Given the description of an element on the screen output the (x, y) to click on. 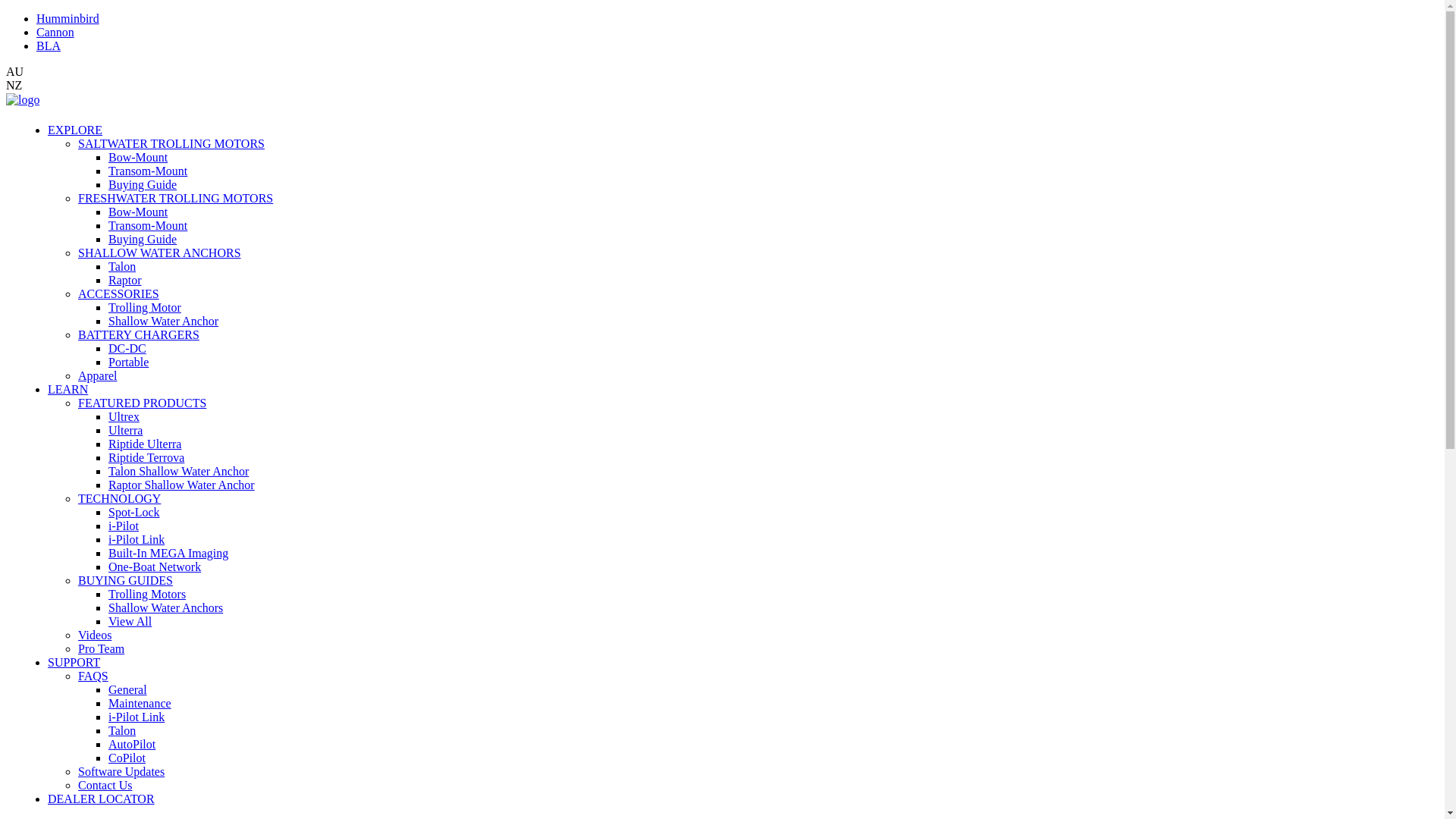
Software Updates Element type: text (121, 771)
Humminbird Element type: text (67, 18)
DEALER LOCATOR Element type: text (100, 798)
Riptide Ulterra Element type: text (144, 443)
View All Element type: text (129, 621)
Trolling Motor Element type: text (144, 307)
Buying Guide Element type: text (142, 184)
General Element type: text (127, 689)
BUYING GUIDES Element type: text (125, 580)
Buying Guide Element type: text (142, 238)
FRESHWATER TROLLING MOTORS Element type: text (175, 197)
Shallow Water Anchor Element type: text (163, 320)
Contact Us Element type: text (105, 784)
ACCESSORIES Element type: text (118, 293)
DC-DC Element type: text (127, 348)
SHALLOW WATER ANCHORS Element type: text (159, 252)
Built-In MEGA Imaging Element type: text (168, 552)
i-Pilot Link Element type: text (136, 539)
Spot-Lock Element type: text (134, 511)
SALTWATER TROLLING MOTORS Element type: text (171, 143)
One-Boat Network Element type: text (154, 566)
Bow-Mount Element type: text (137, 211)
Ultrex Element type: text (123, 416)
Apparel Element type: text (97, 375)
AutoPilot Element type: text (131, 743)
FEATURED PRODUCTS Element type: text (142, 402)
Riptide Terrova Element type: text (146, 457)
EXPLORE Element type: text (74, 129)
Pro Team Element type: text (101, 648)
Portable Element type: text (128, 361)
i-Pilot Link Element type: text (136, 716)
Videos Element type: text (94, 634)
Raptor Shallow Water Anchor Element type: text (181, 484)
Bow-Mount Element type: text (137, 156)
FAQS Element type: text (93, 675)
Trolling Motors Element type: text (146, 593)
TECHNOLOGY Element type: text (119, 498)
Shallow Water Anchors Element type: text (165, 607)
Talon Shallow Water Anchor Element type: text (178, 470)
Raptor Element type: text (124, 279)
Talon Element type: text (121, 266)
Transom-Mount Element type: text (147, 170)
Cannon Element type: text (55, 31)
Talon Element type: text (121, 730)
BATTERY CHARGERS Element type: text (138, 334)
Ulterra Element type: text (125, 429)
i-Pilot Element type: text (123, 525)
BLA Element type: text (48, 45)
Transom-Mount Element type: text (147, 225)
SUPPORT Element type: text (73, 661)
LEARN Element type: text (67, 388)
Maintenance Element type: text (139, 702)
CoPilot Element type: text (126, 757)
